Given the description of an element on the screen output the (x, y) to click on. 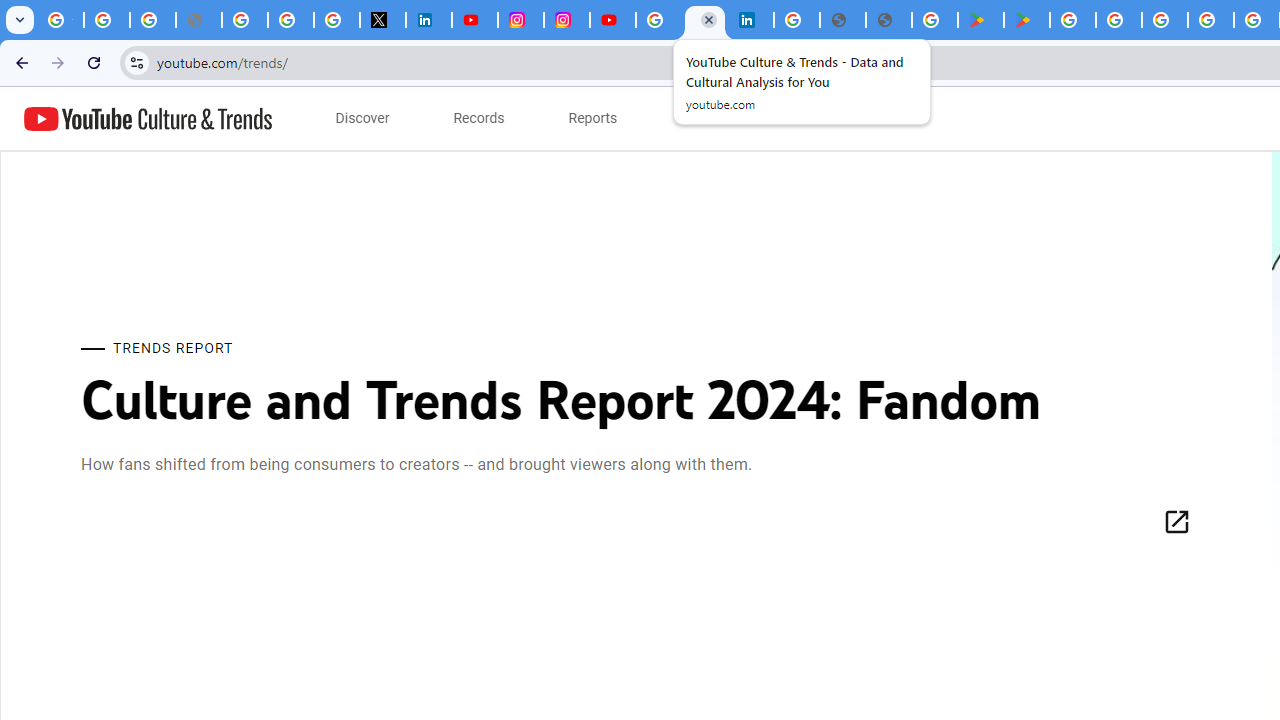
Google Workspace - Specific Terms (1210, 20)
YouTube Content Monetization Policies - How YouTube Works (474, 20)
subnav-Reports menupopup (593, 118)
Privacy Help Center - Policies Help (244, 20)
google_privacy_policy_en.pdf (843, 20)
JUMP TO CONTENT (209, 119)
LinkedIn Privacy Policy (428, 20)
